Given the description of an element on the screen output the (x, y) to click on. 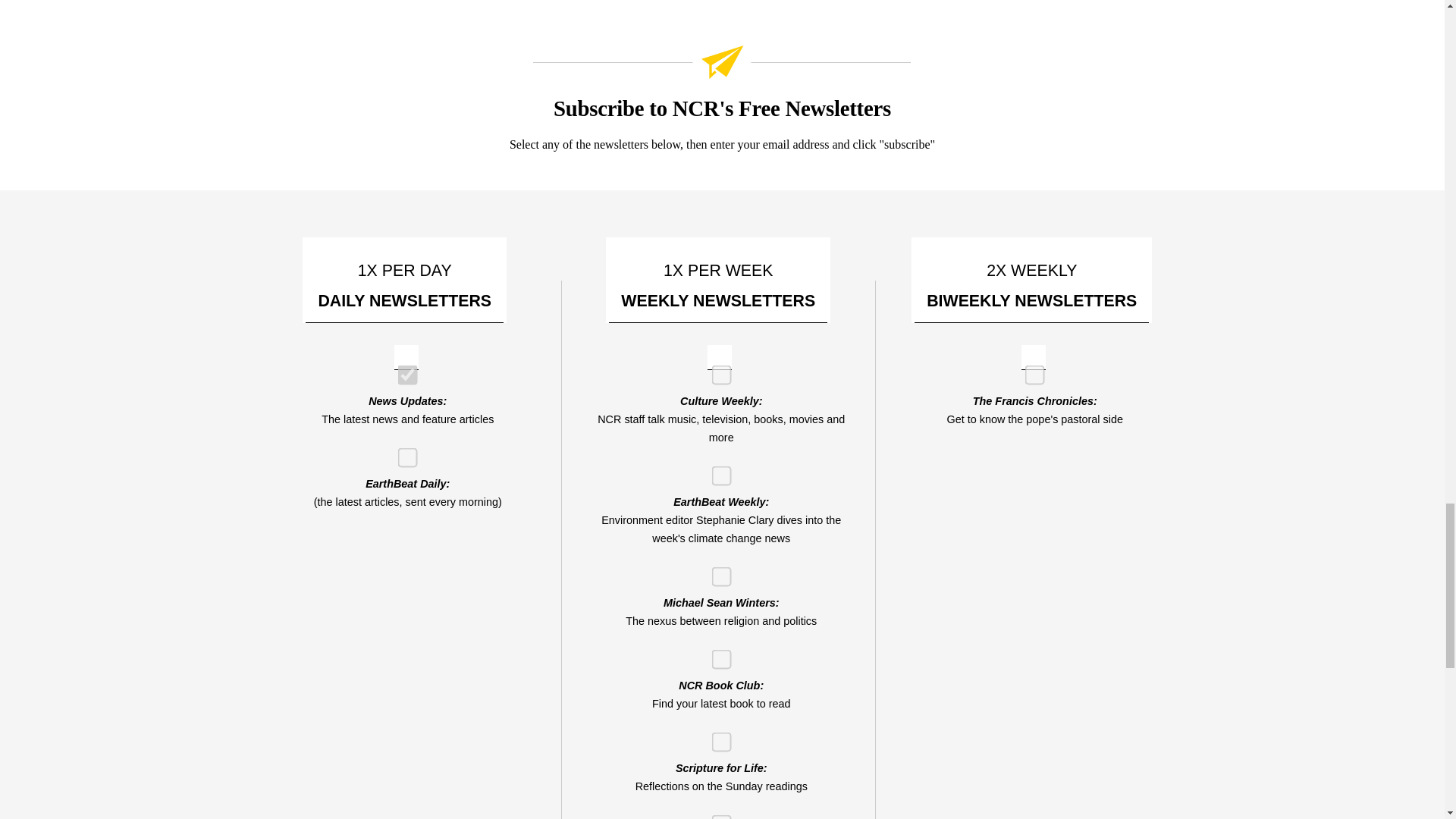
dfa4c56aff (715, 816)
13ede0f40e (715, 654)
c25324053e (715, 737)
3b77a4581e (715, 571)
ef6500f2d3 (715, 470)
9b73e2ca65 (1030, 369)
f86221b965 (402, 369)
efa1b974a2 (402, 452)
e536af3ae2 (715, 369)
